Given the description of an element on the screen output the (x, y) to click on. 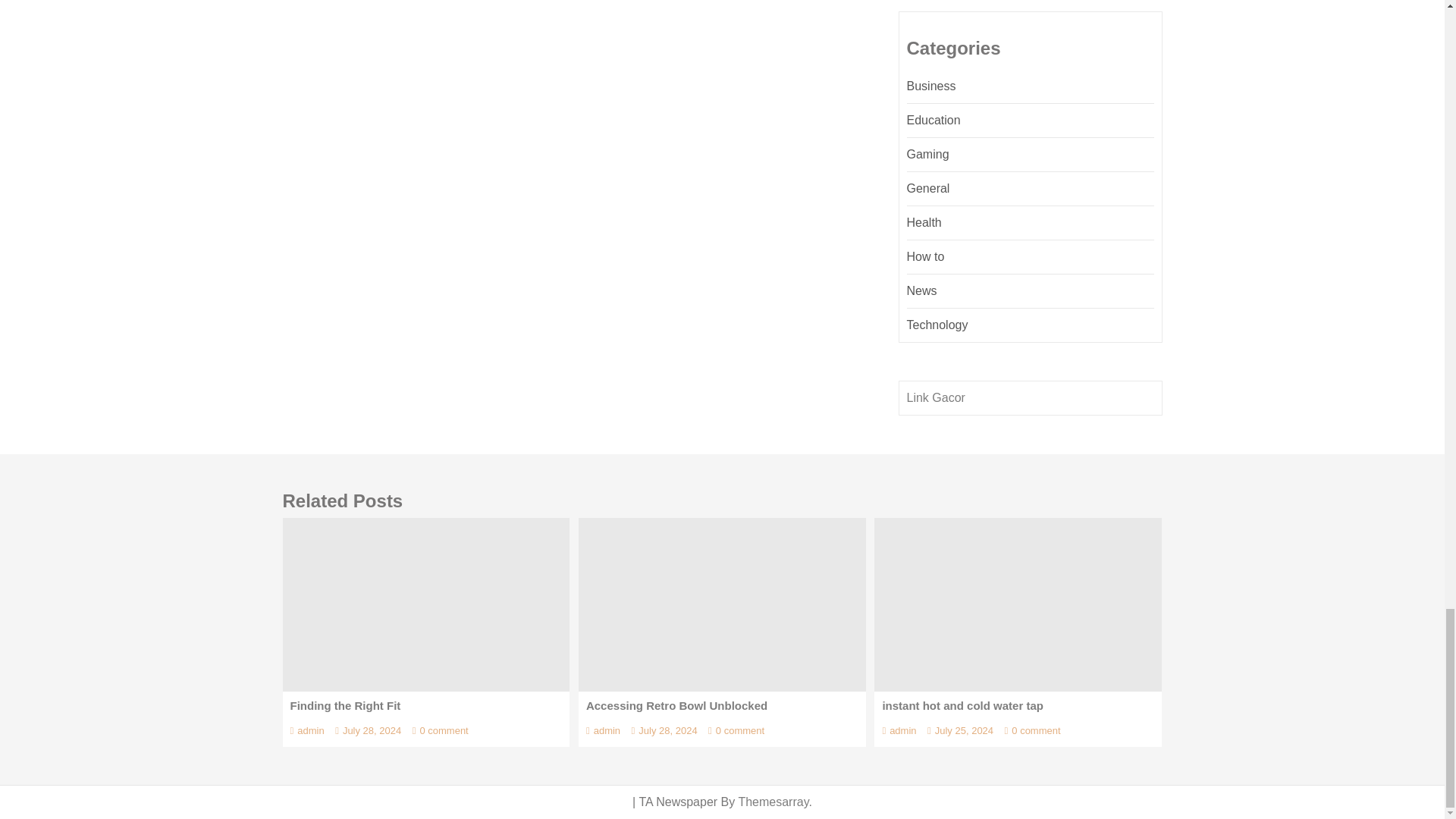
instant hot and cold water tap (1018, 604)
Finding the Right Fit (425, 604)
Accessing Retro Bowl Unblocked (722, 604)
